Given the description of an element on the screen output the (x, y) to click on. 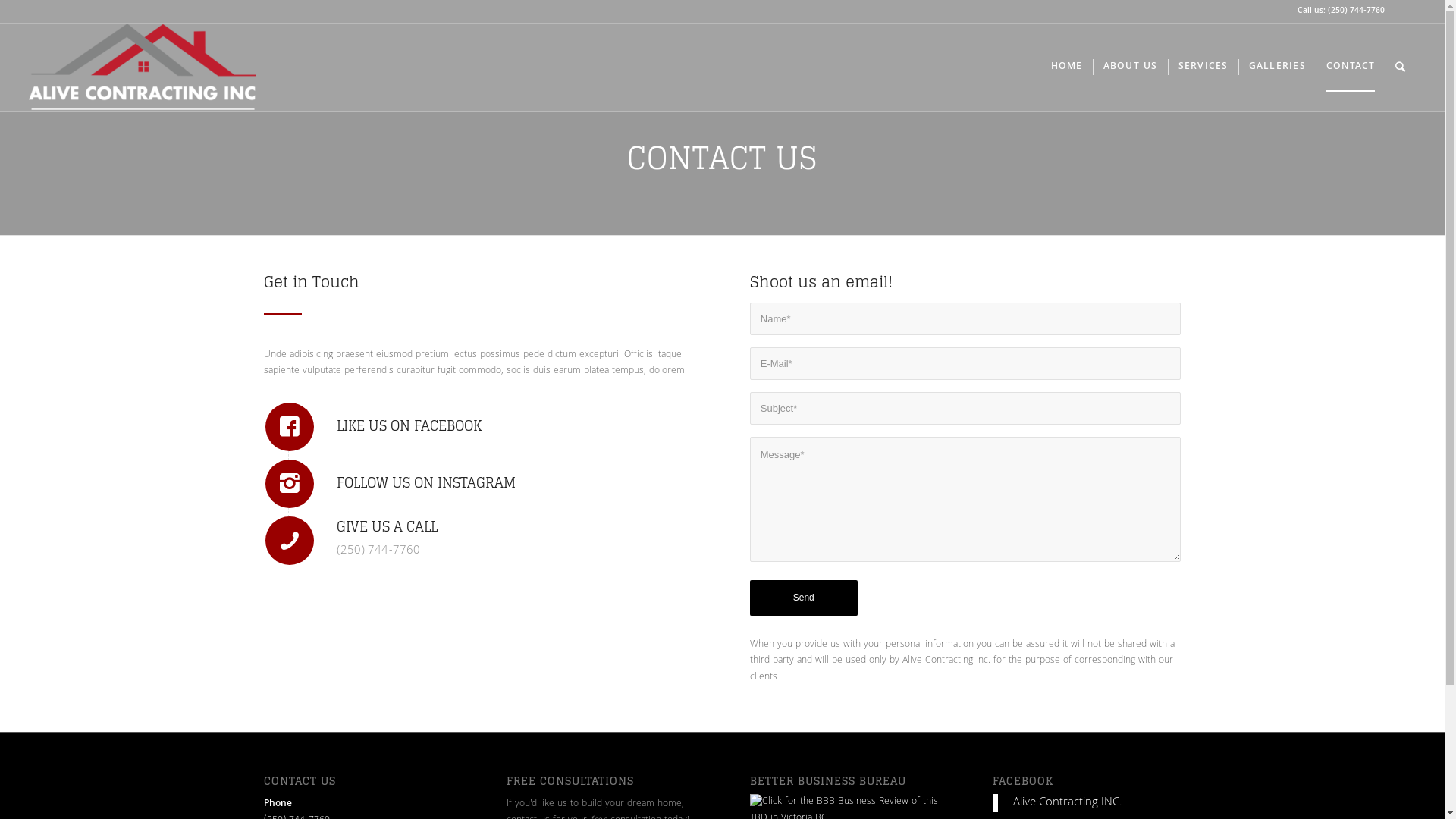
LIKE US ON FACEBOOK Element type: text (408, 425)
CONTACT Element type: text (1350, 67)
Facebook Element type: hover (1404, 11)
ABOUT US Element type: text (1129, 67)
GIVE US A CALL Element type: text (386, 526)
(250) 744-7760 Element type: text (1355, 11)
Alive Contracting INC. Element type: text (1067, 802)
SERVICES Element type: text (1202, 67)
HOME Element type: text (1066, 67)
FOLLOW US ON INSTAGRAM Element type: text (425, 482)
Follow us on Instagram Element type: hover (289, 483)
Give us a call Element type: hover (289, 540)
GALLERIES Element type: text (1276, 67)
Like us on Facebook Element type: hover (289, 426)
Send Element type: text (803, 597)
